Given the description of an element on the screen output the (x, y) to click on. 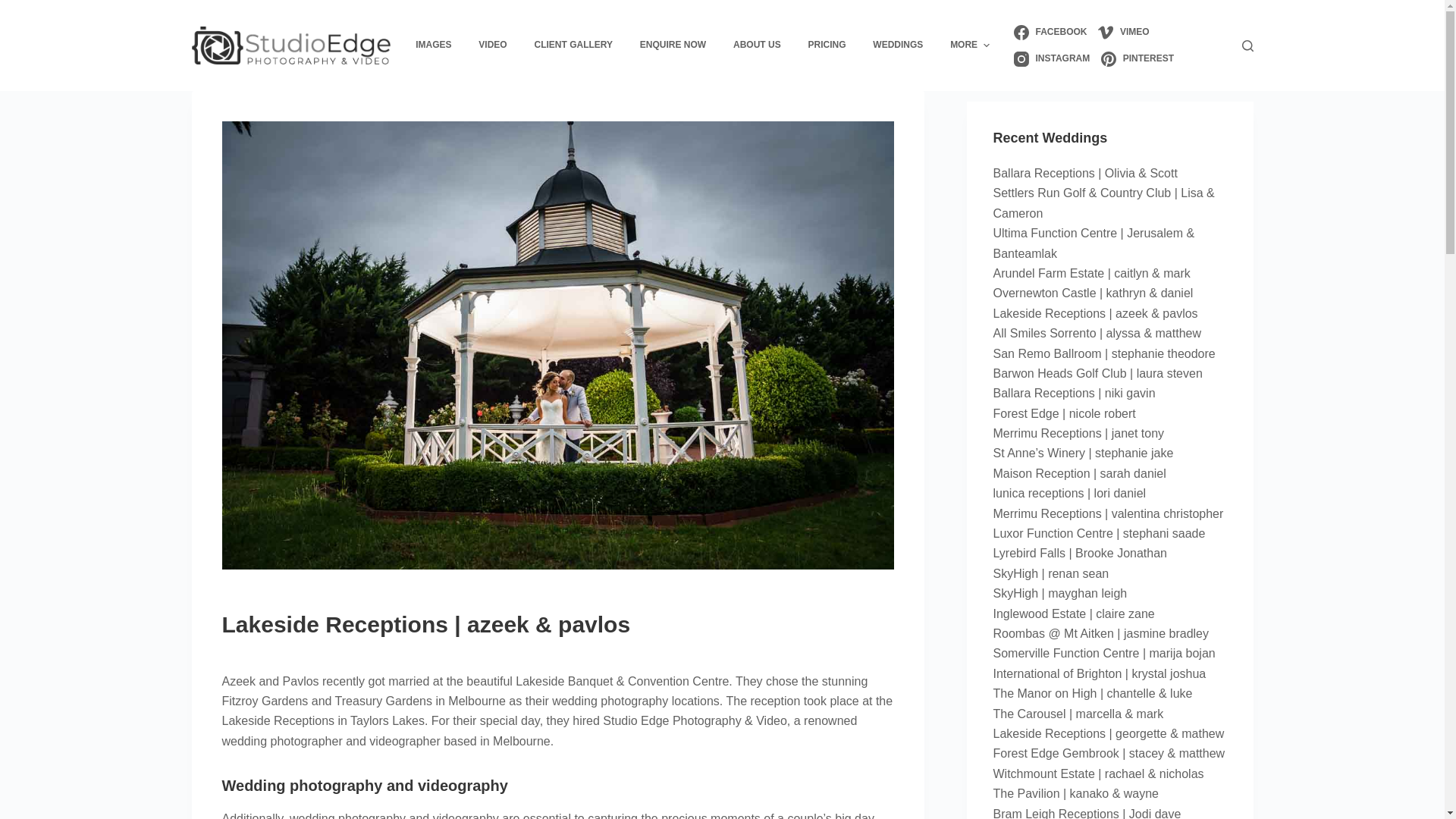
Settlers Run Golf & Country Club | Lisa & Cameron Element type: text (1103, 202)
WEDDINGS Element type: text (897, 45)
Roombas @ Mt Aitken | jasmine bradley Element type: text (1101, 633)
CLIENT GALLERY Element type: text (573, 45)
lunica receptions | lori daniel Element type: text (1069, 492)
Inglewood Estate | claire zane Element type: text (1073, 613)
Luxor Function Centre | stephani saade Element type: text (1099, 533)
All Smiles Sorrento | alyssa & matthew Element type: text (1097, 332)
Merrimu Receptions | valentina christopher Element type: text (1108, 513)
ENQUIRE NOW Element type: text (672, 45)
INSTAGRAM Element type: text (1051, 58)
Overnewton Castle | kathryn & daniel Element type: text (1093, 292)
Skip to content Element type: text (15, 7)
Arundel Farm Estate | caitlyn & mark Element type: text (1091, 272)
Merrimu Receptions | janet tony Element type: text (1078, 432)
Barwon Heads Golf Club | laura steven Element type: text (1097, 373)
Somerville Function Centre | marija bojan Element type: text (1104, 652)
IMAGES Element type: text (433, 45)
Ballara Receptions | Olivia & Scott Element type: text (1085, 172)
ABOUT US Element type: text (756, 45)
Witchmount Estate | rachael & nicholas Element type: text (1098, 773)
VIMEO Element type: text (1123, 31)
Lyrebird Falls | Brooke Jonathan Element type: text (1080, 552)
International of Brighton | krystal joshua Element type: text (1099, 673)
Ballara Receptions | niki gavin Element type: text (1074, 392)
SkyHigh | mayghan leigh Element type: text (1060, 592)
PRICING Element type: text (826, 45)
Forest Edge Gembrook | stacey & matthew Element type: text (1109, 752)
Maison Reception | sarah daniel Element type: text (1079, 473)
The Carousel | marcella & mark Element type: text (1078, 713)
Lakeside Receptions | azeek & pavlos Element type: text (1095, 313)
FACEBOOK Element type: text (1049, 31)
MORE Element type: text (969, 45)
The Manor on High | chantelle & luke Element type: text (1092, 693)
The Pavilion | kanako & wayne Element type: text (1076, 793)
SkyHigh | renan sean Element type: text (1051, 573)
PINTEREST Element type: text (1137, 58)
Lakeside Receptions | georgette & mathew Element type: text (1108, 733)
Ultima Function Centre | Jerusalem & Banteamlak Element type: text (1094, 242)
VIDEO Element type: text (492, 45)
Forest Edge | nicole robert Element type: text (1064, 413)
San Remo Ballroom | stephanie theodore Element type: text (1104, 353)
